Given the description of an element on the screen output the (x, y) to click on. 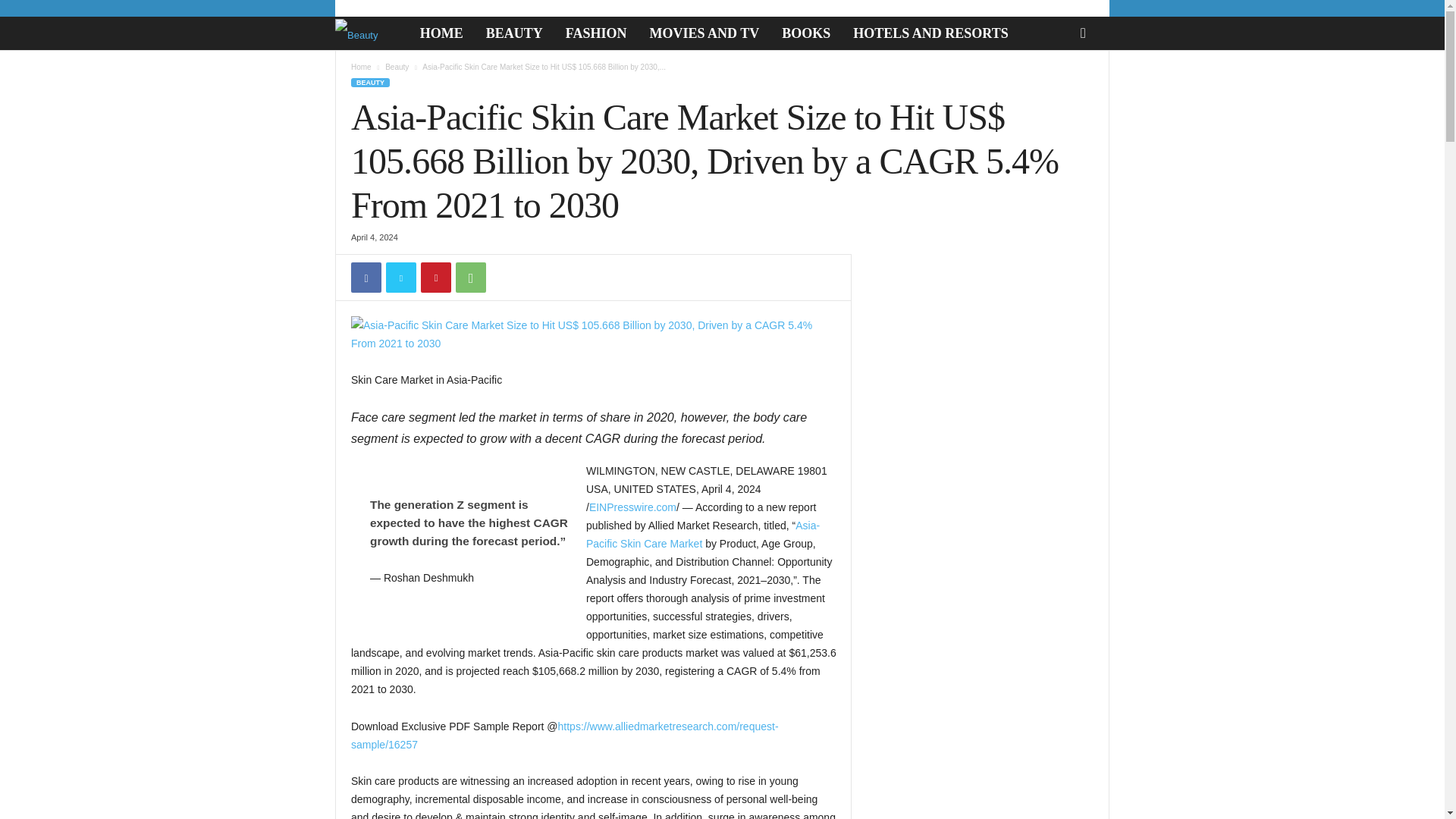
BEAUTY (370, 81)
Facebook (365, 277)
HOTELS AND RESORTS (930, 32)
Beauty Ring magazine (363, 32)
Asia-Pacific Skin Care Market (702, 534)
WhatsApp (470, 277)
EINPresswire.com (633, 507)
Home (360, 67)
Beauty (397, 67)
Pinterest (435, 277)
BOOKS (805, 32)
FASHION (596, 32)
MOVIES AND TV (703, 32)
HOME (441, 32)
View all posts in Beauty (397, 67)
